Given the description of an element on the screen output the (x, y) to click on. 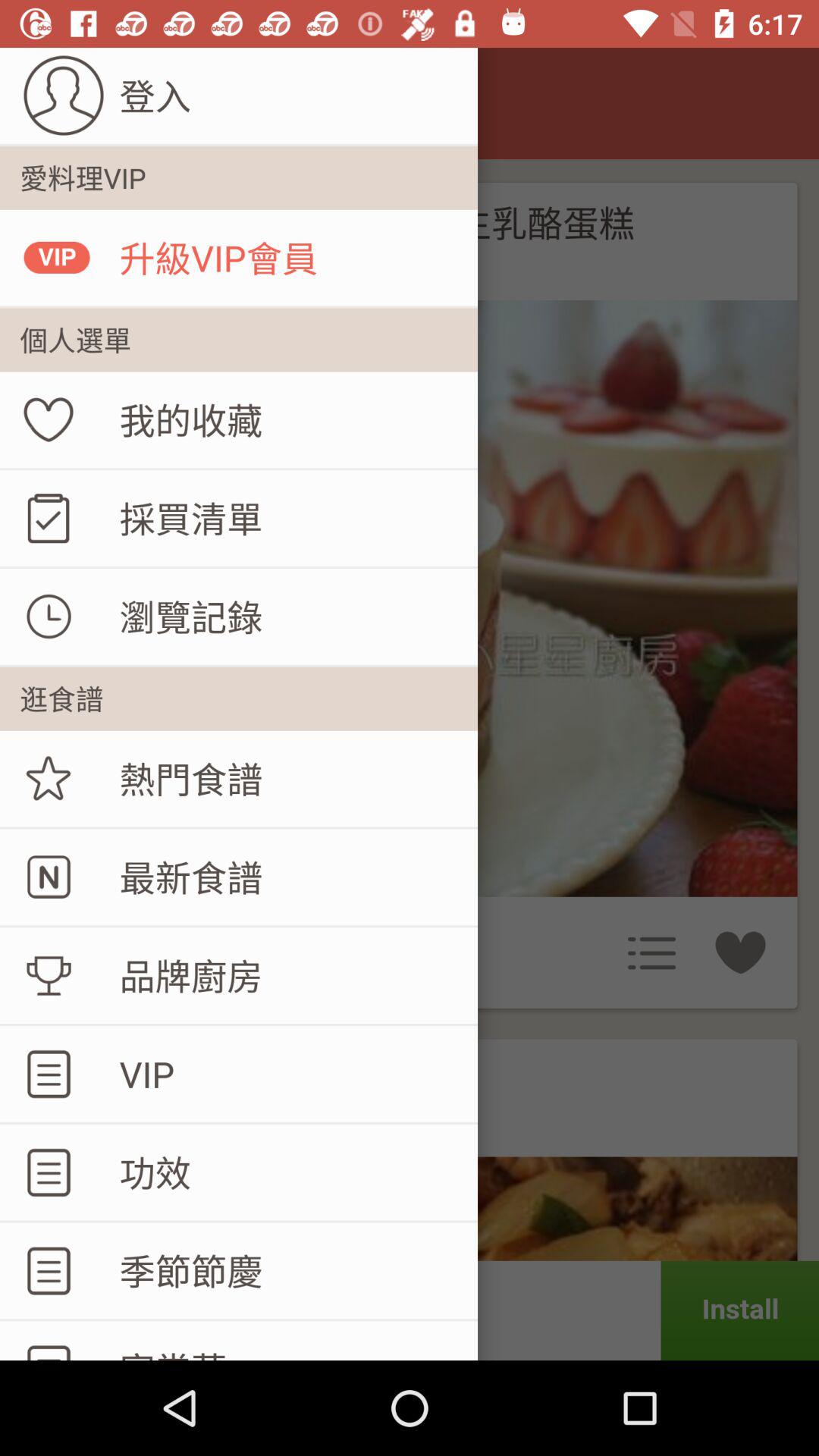
select the star icon (49, 778)
click on vip which is above the favorite icon (57, 257)
select the user profile in the top left corner (64, 95)
click the timer icon (49, 616)
